Given the description of an element on the screen output the (x, y) to click on. 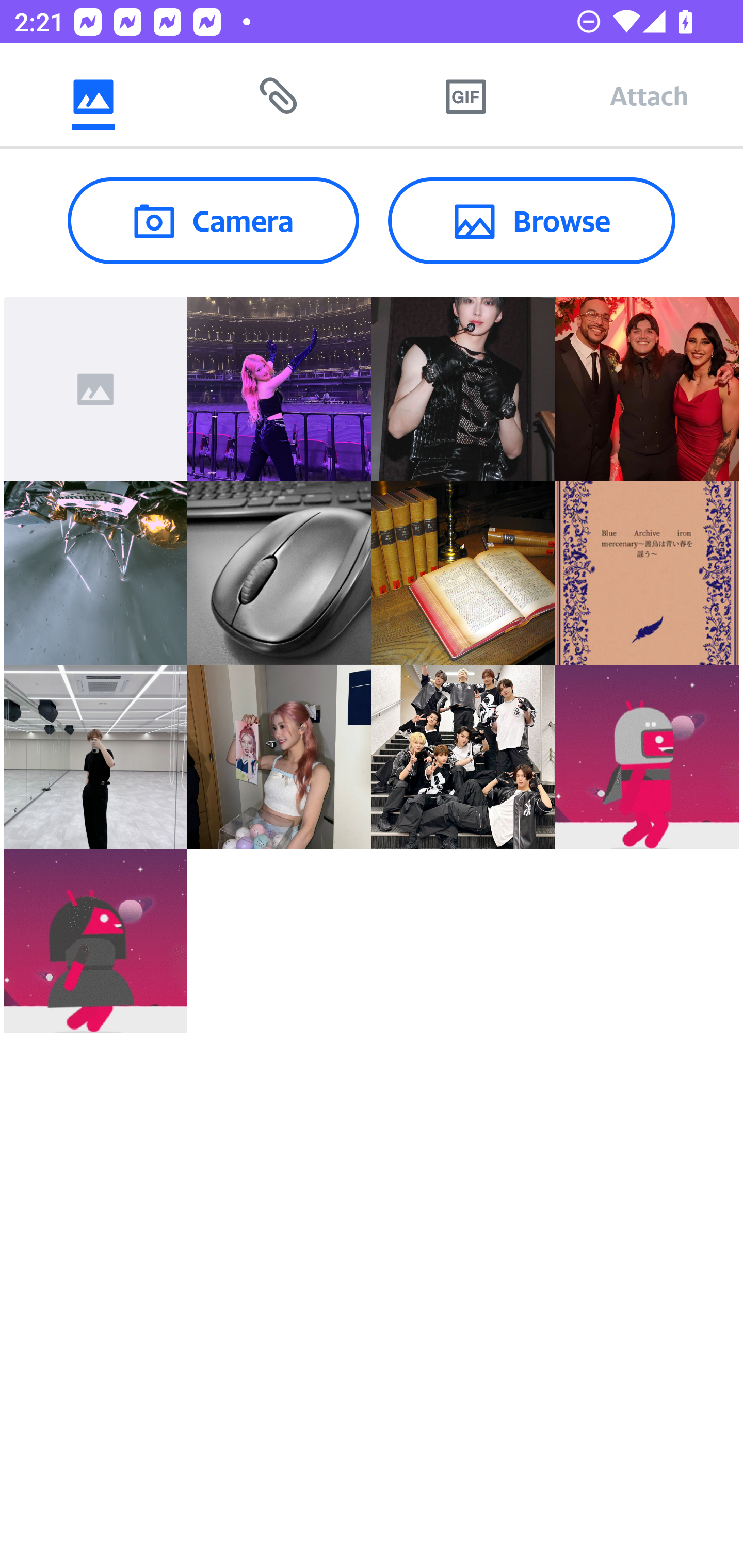
Camera photos (93, 95)
Recent attachments from mail (279, 95)
GIFs (465, 95)
Attach (649, 95)
Camera (212, 220)
Browse (531, 220)
